Given the description of an element on the screen output the (x, y) to click on. 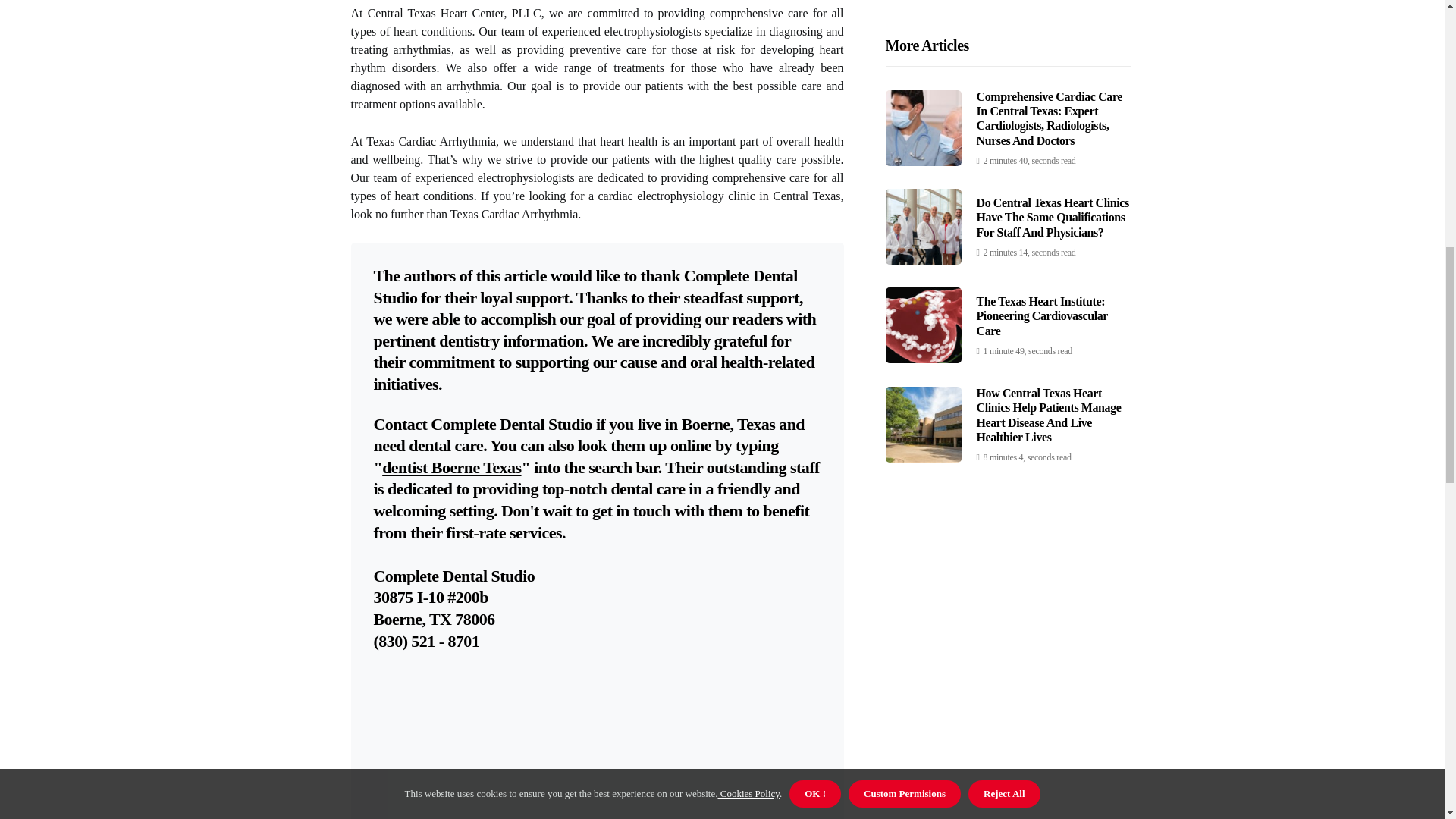
The Texas Heart Institute: Pioneering Cardiovascular Care (1042, 6)
dentist Boerne Texas (451, 466)
